Given the description of an element on the screen output the (x, y) to click on. 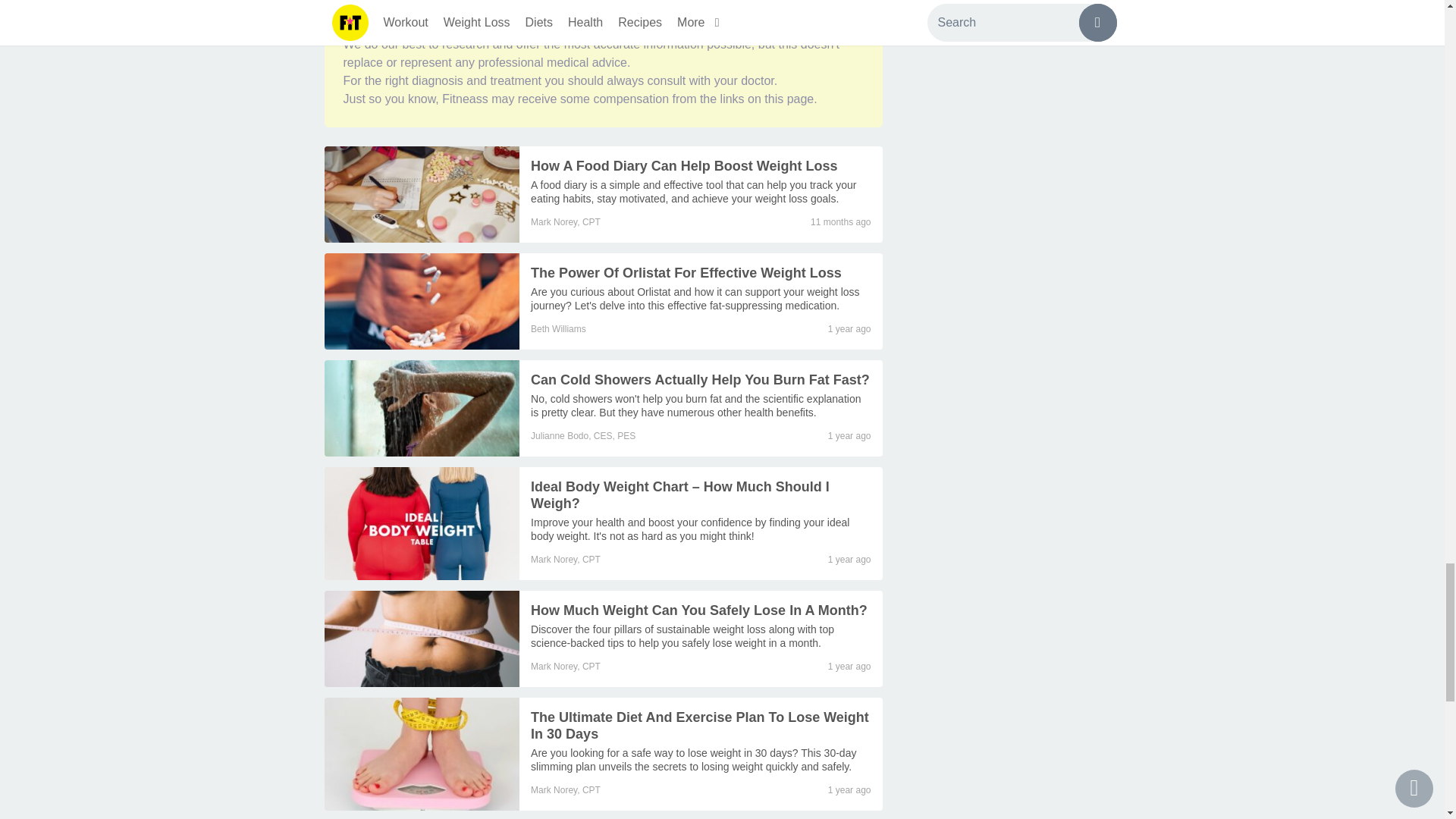
How A Food Diary Can Help Boost Weight Loss (684, 165)
How A Food Diary Can Help Boost Weight Loss (693, 191)
How A Food Diary Can Help Boost Weight Loss (421, 194)
